Given the description of an element on the screen output the (x, y) to click on. 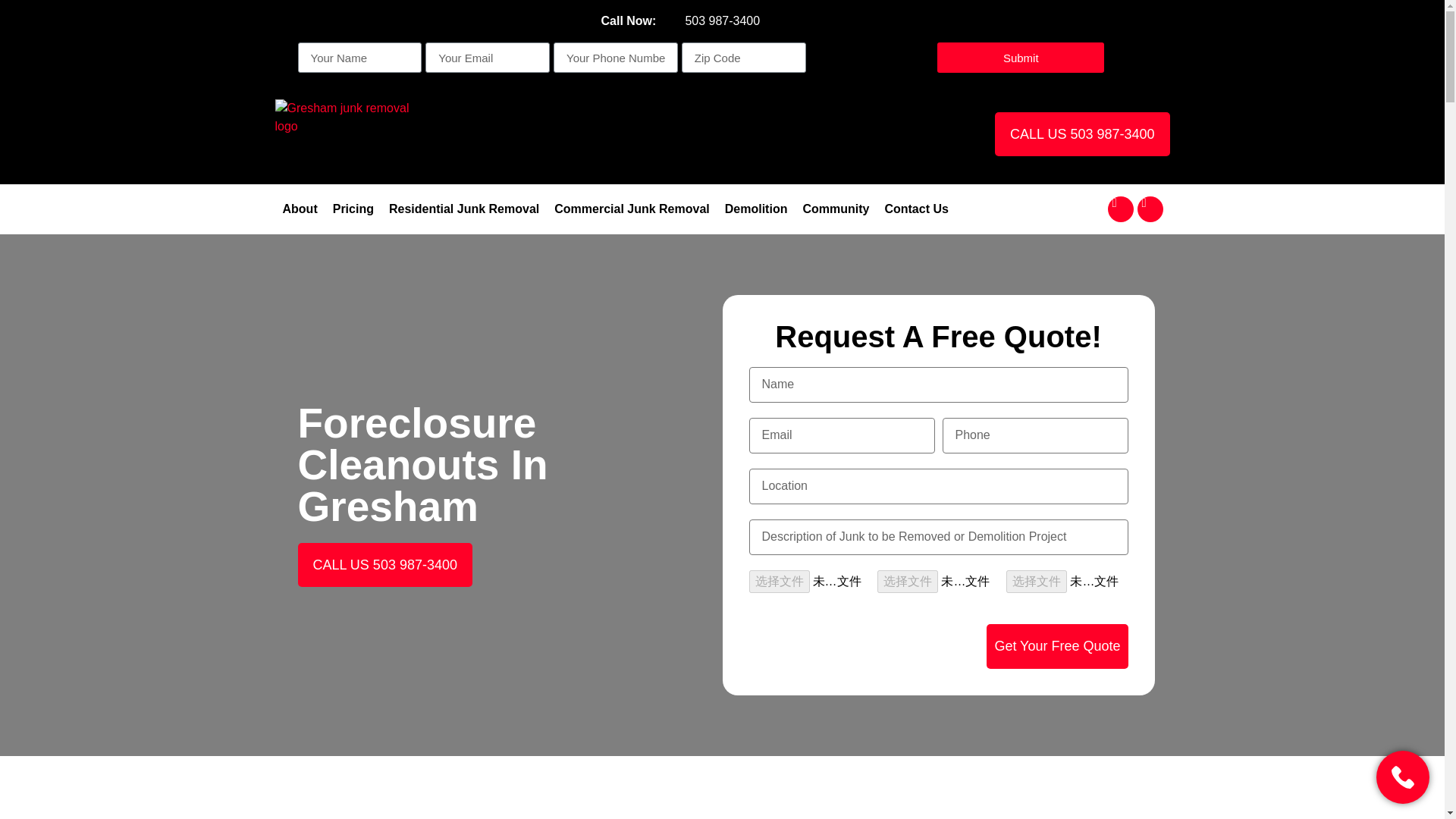
About (299, 208)
Submit (1020, 57)
Demolition (755, 208)
Contact Us (915, 208)
Community (835, 208)
CALL US 503 987-3400 (1081, 134)
Commercial Junk Removal (632, 208)
503 987-3400 (719, 21)
Pricing (352, 208)
Residential Junk Removal (464, 208)
